Given the description of an element on the screen output the (x, y) to click on. 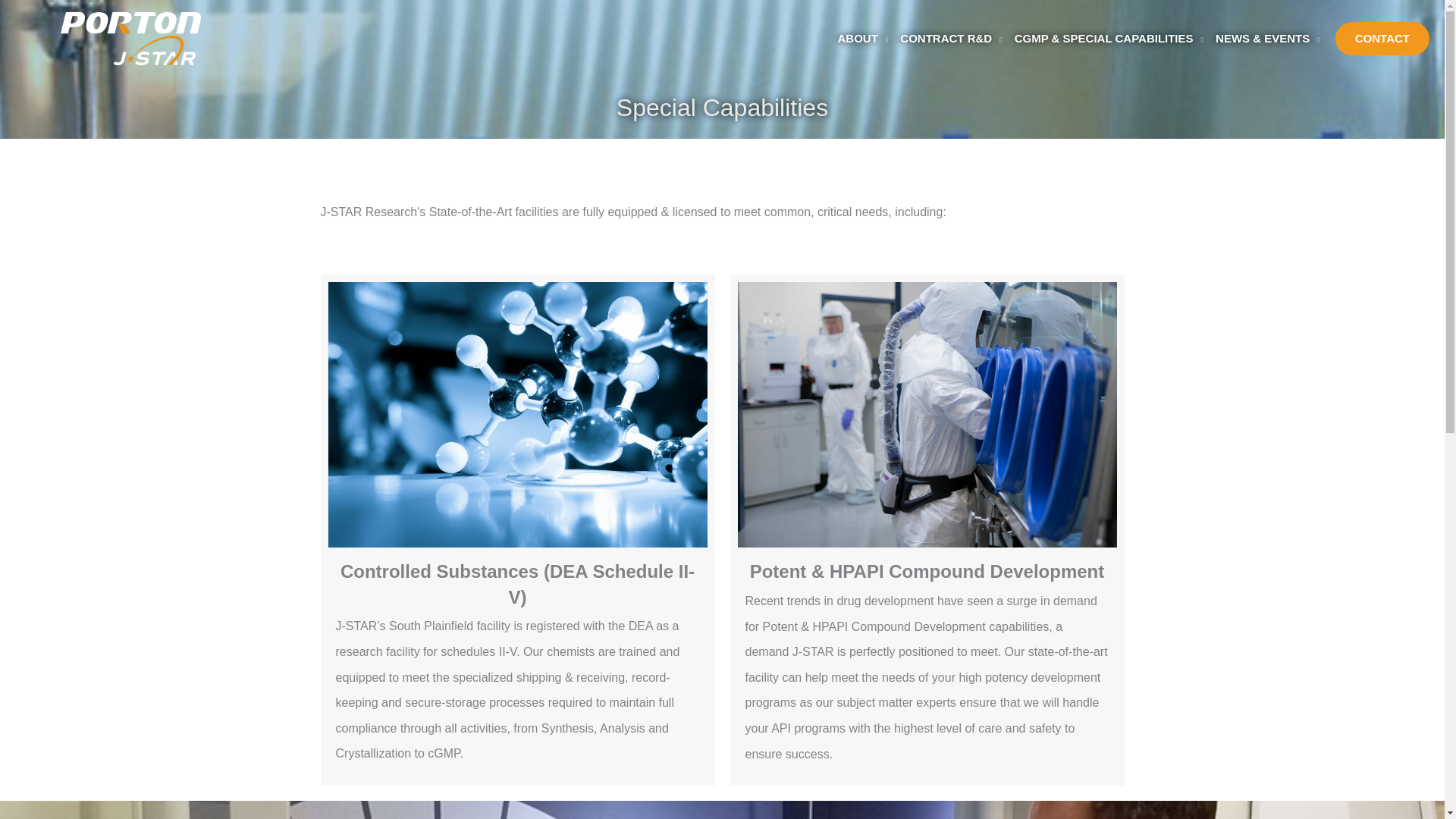
ABOUT (856, 38)
hpapi-smaller2 (926, 414)
J-Star Research Structural Elucidation and NMR Expansion (516, 414)
